Given the description of an element on the screen output the (x, y) to click on. 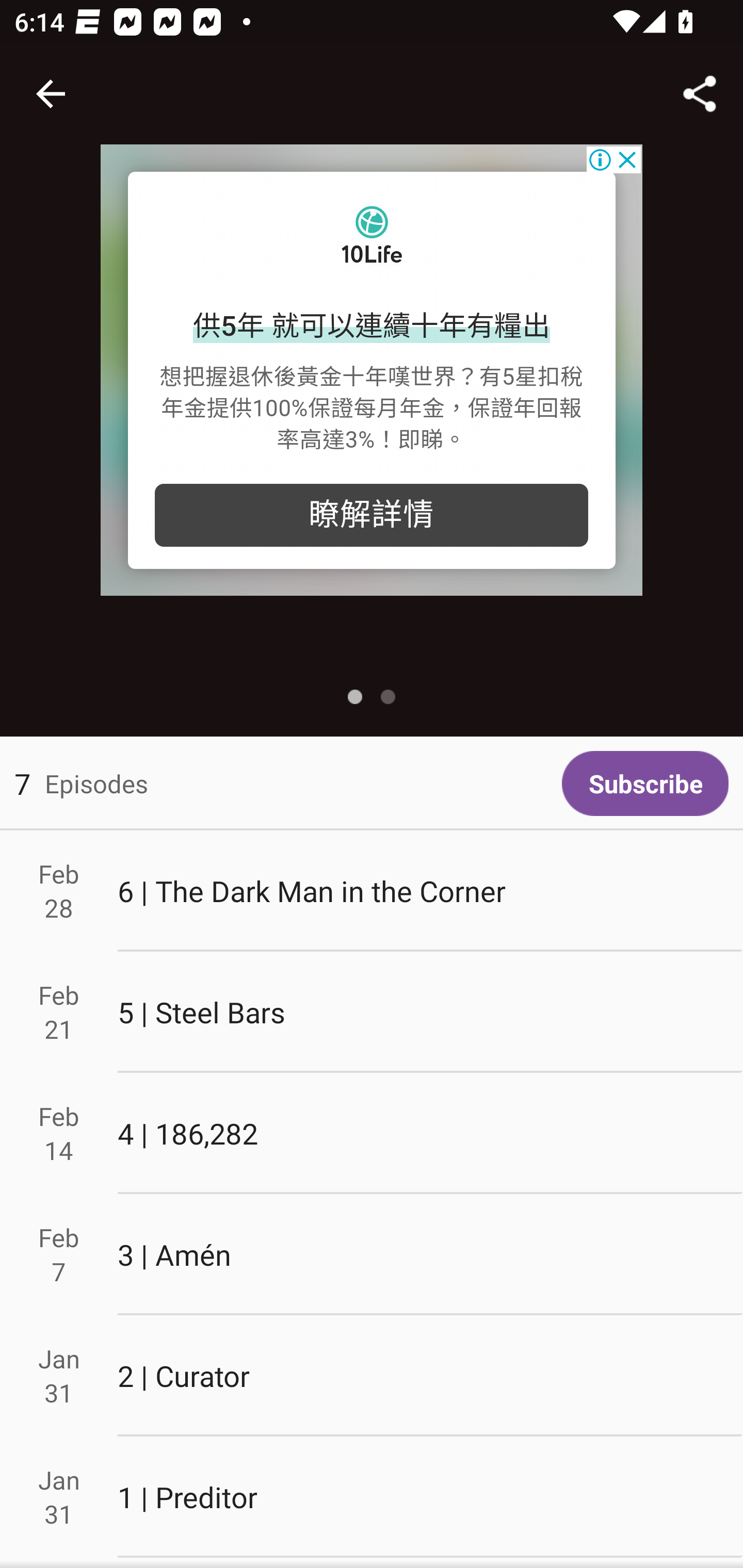
Navigate up (50, 93)
Share... (699, 93)
deferred-annuity%3Fads%3D0022807 (371, 238)
供5年 就可以連續十年有糧出 (371, 327)
瞭解詳情 (371, 514)
Subscribe (644, 783)
Feb 28 6 | The Dark Man in the Corner (371, 891)
Feb 21 5 | Steel Bars (371, 1011)
Feb 14 4 | 186,282 (371, 1133)
Feb 7 3 | Amén (371, 1254)
Jan 31 2 | Curator (371, 1375)
Jan 31 1 | Preditor (371, 1496)
